Given the description of an element on the screen output the (x, y) to click on. 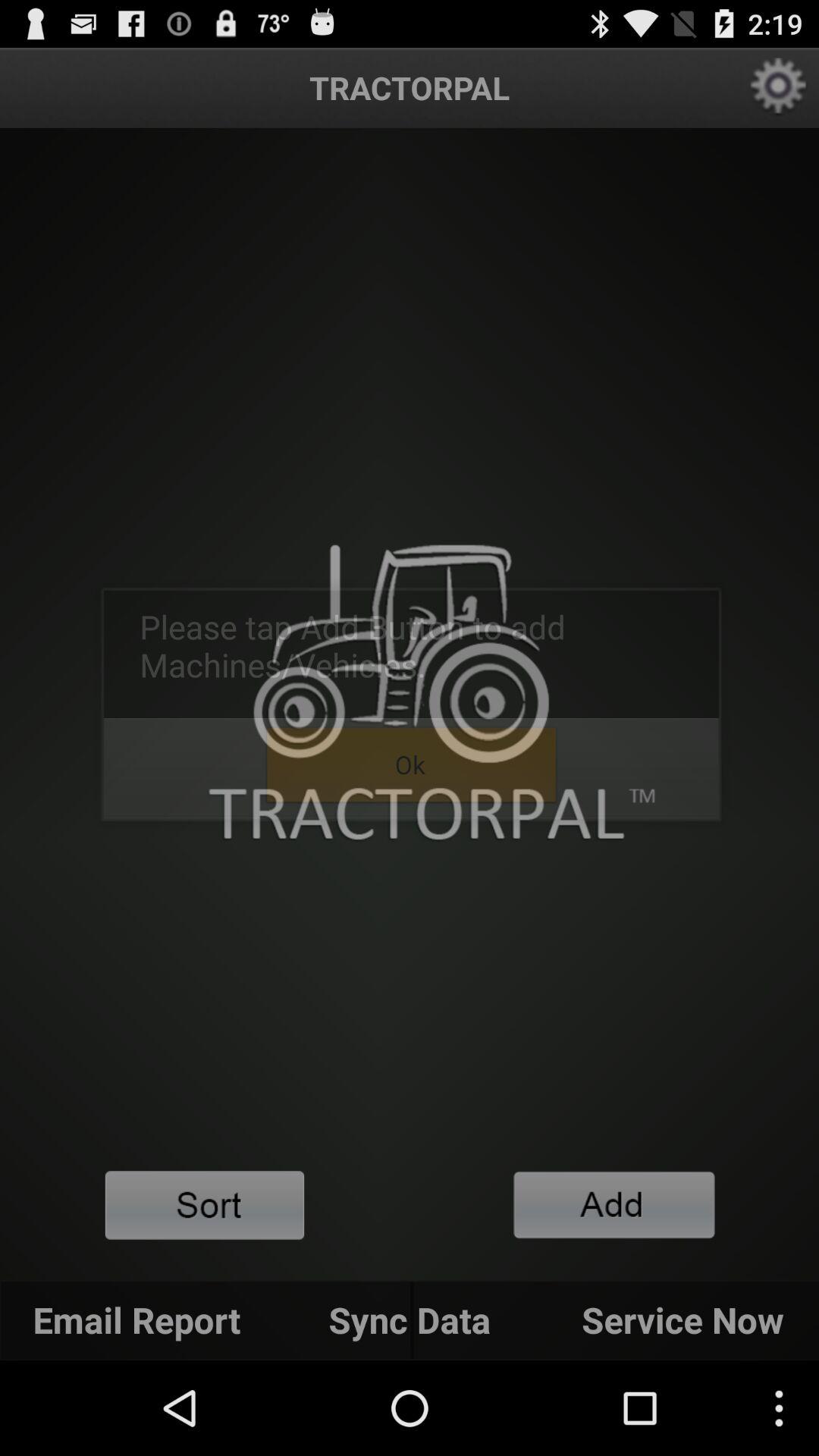
add vehicle (613, 1204)
